Given the description of an element on the screen output the (x, y) to click on. 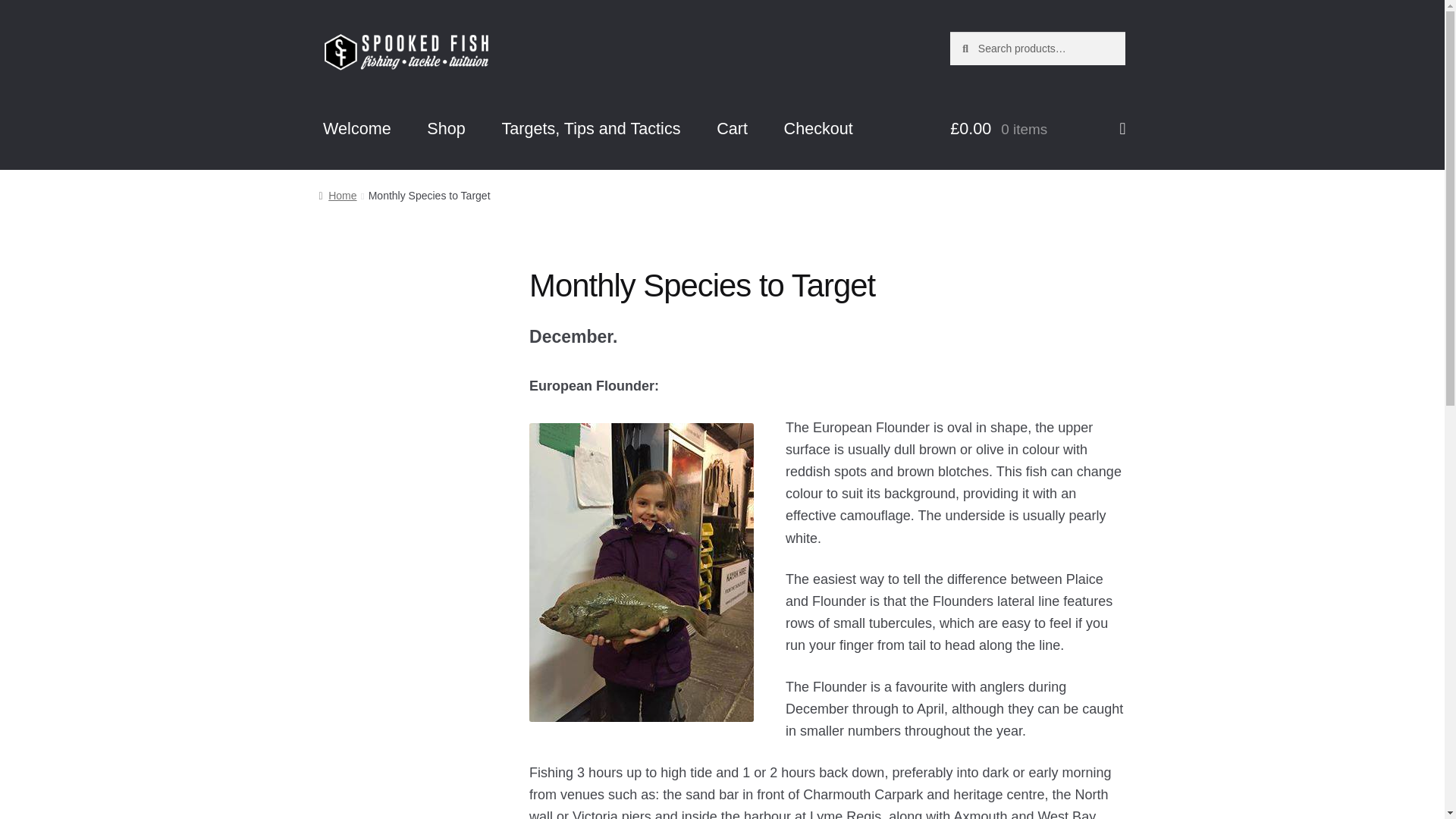
Checkout (818, 128)
View your shopping cart (1037, 128)
Targets, Tips and Tactics (590, 128)
Shop (445, 128)
Welcome (357, 128)
Home (337, 195)
